Given the description of an element on the screen output the (x, y) to click on. 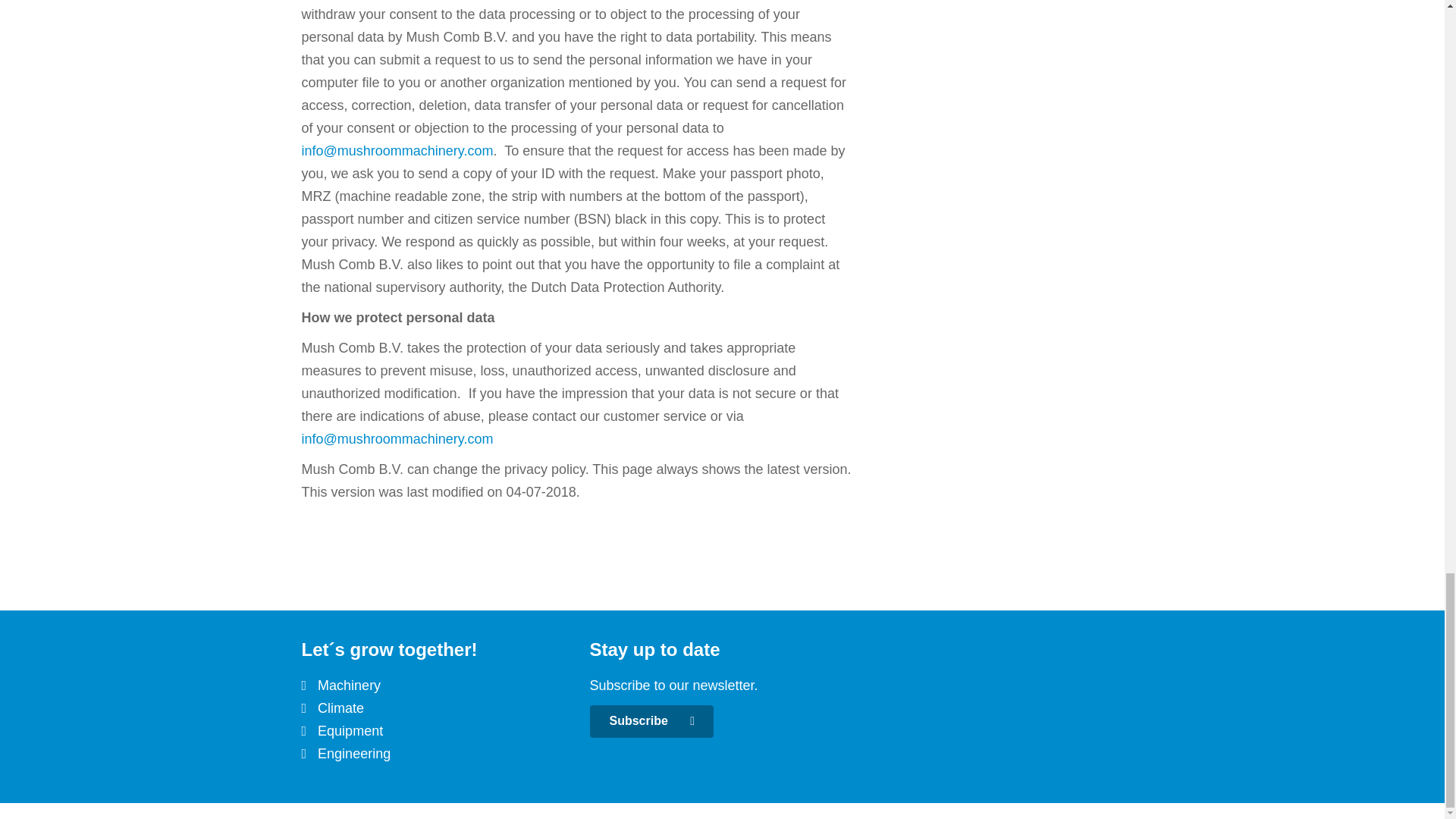
Climate (340, 708)
Subscribe (651, 721)
Engineering (353, 753)
Equipment (349, 730)
Machinery (348, 685)
